Given the description of an element on the screen output the (x, y) to click on. 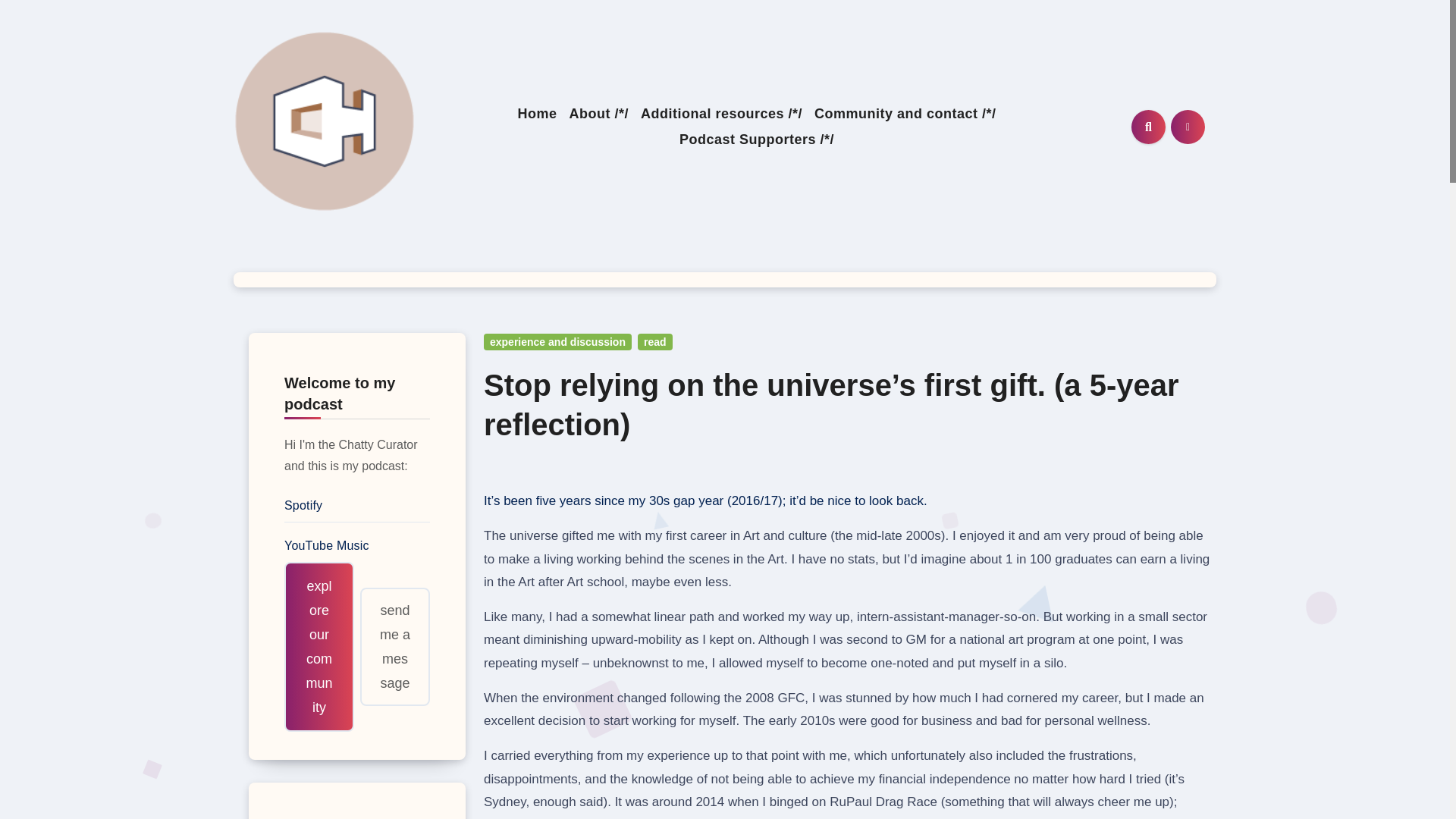
YouTube Music (326, 545)
Spotify Embed: Get Chatty About Your Local Businesses  (357, 806)
Home (536, 113)
Home (536, 113)
Spotify (302, 504)
